Given the description of an element on the screen output the (x, y) to click on. 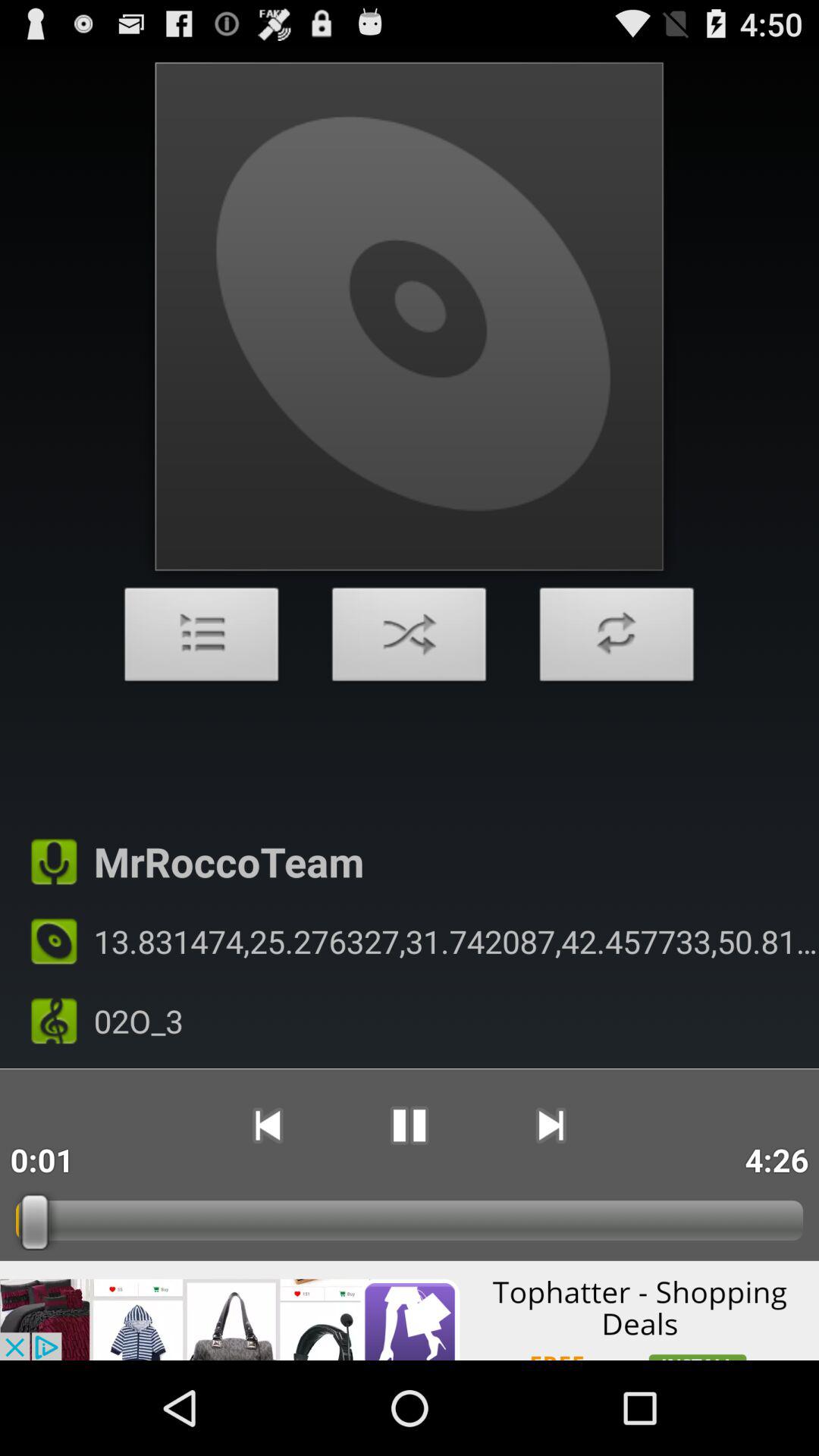
show full playlist (201, 638)
